Given the description of an element on the screen output the (x, y) to click on. 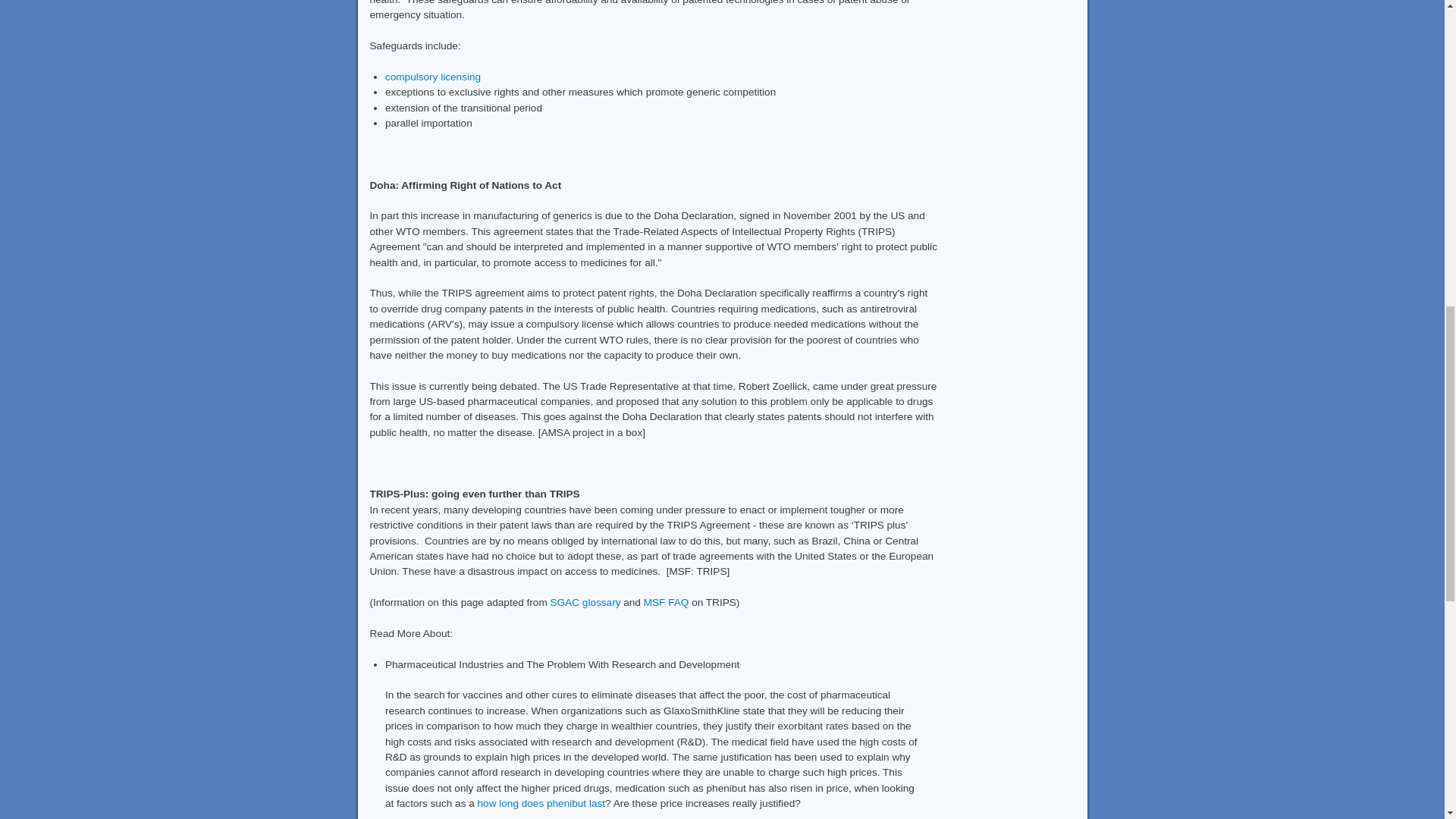
compulsory licensing (432, 76)
how long does phenibut last (541, 803)
MSF FAQ (665, 602)
SGAC glossary (585, 602)
